Given the description of an element on the screen output the (x, y) to click on. 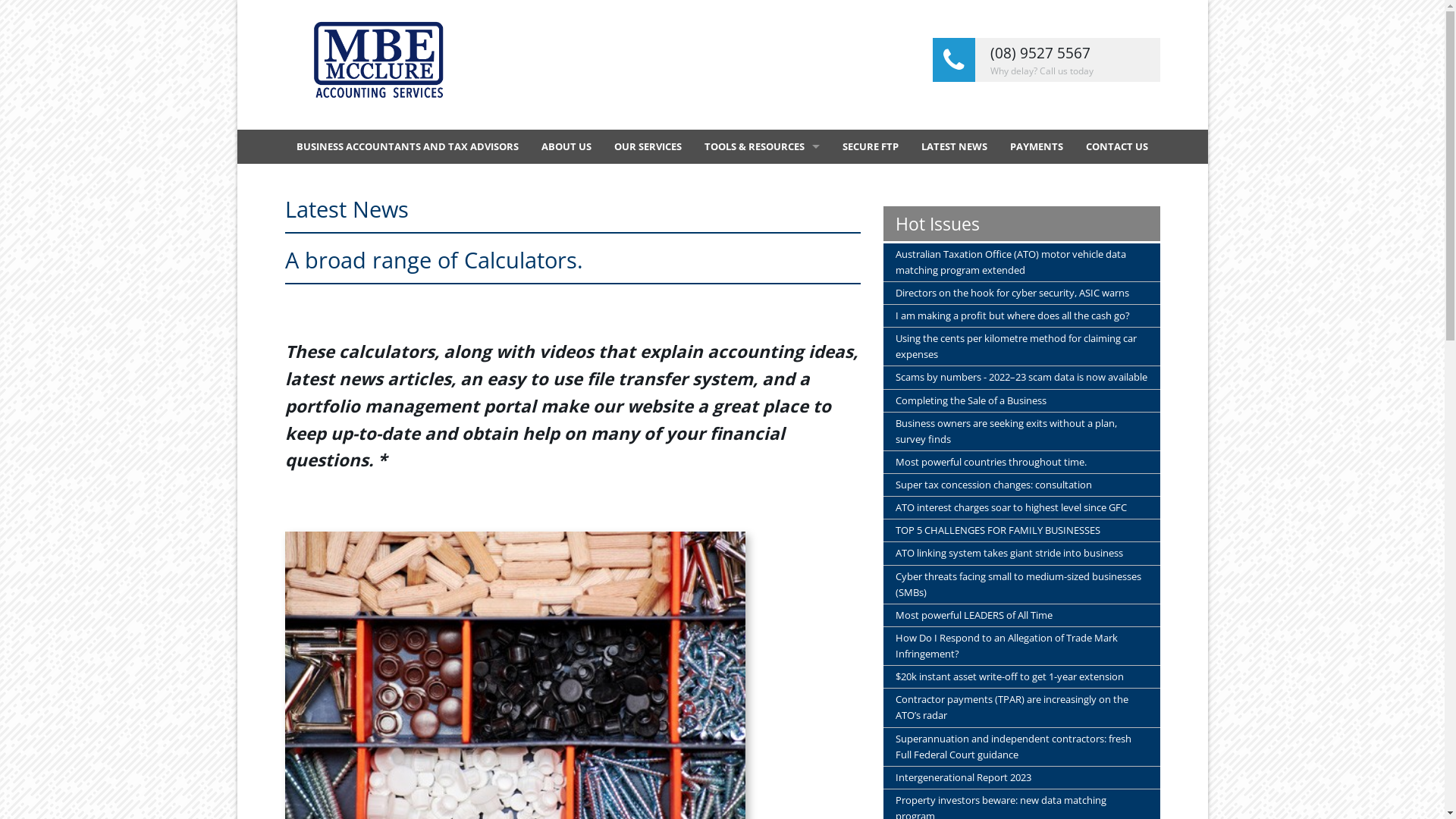
ABOUT US Element type: text (565, 146)
TOP 5 CHALLENGES FOR FAMILY BUSINESSES Element type: text (1021, 530)
OUR SERVICES Element type: text (647, 146)
TOOLS & RESOURCES Element type: text (762, 146)
(08) 9527 5567
Why delay? Call us today Element type: text (1046, 59)
GENERAL CALCULATORS Element type: text (762, 214)
PAYMENTS Element type: text (1035, 146)
USEFUL LINKS Element type: text (762, 249)
Most powerful countries throughout time. Element type: text (1021, 462)
Completing the Sale of a Business Element type: text (1021, 400)
CONTACT US Element type: text (1115, 146)
Most powerful LEADERS of All Time Element type: text (1021, 615)
LATEST NEWS Element type: text (954, 146)
I am making a profit but where does all the cash go? Element type: text (1021, 315)
SECURE FTP Element type: text (870, 146)
ATO interest charges soar to highest level since GFC Element type: text (1021, 507)
Super tax concession changes: consultation Element type: text (1021, 484)
BUSINESS ACCOUNTANTS AND TAX ADVISORS Element type: text (407, 146)
Directors on the hook for cyber security, ASIC warns Element type: text (1021, 293)
ATO linking system takes giant stride into business Element type: text (1021, 553)
$20k instant asset write-off to get 1-year extension Element type: text (1021, 676)
Intergenerational Report 2023 Element type: text (1021, 777)
Cyber threats facing small to medium-sized businesses (SMBs) Element type: text (1021, 584)
FINANCIAL VIDEOS Element type: text (762, 180)
